Given the description of an element on the screen output the (x, y) to click on. 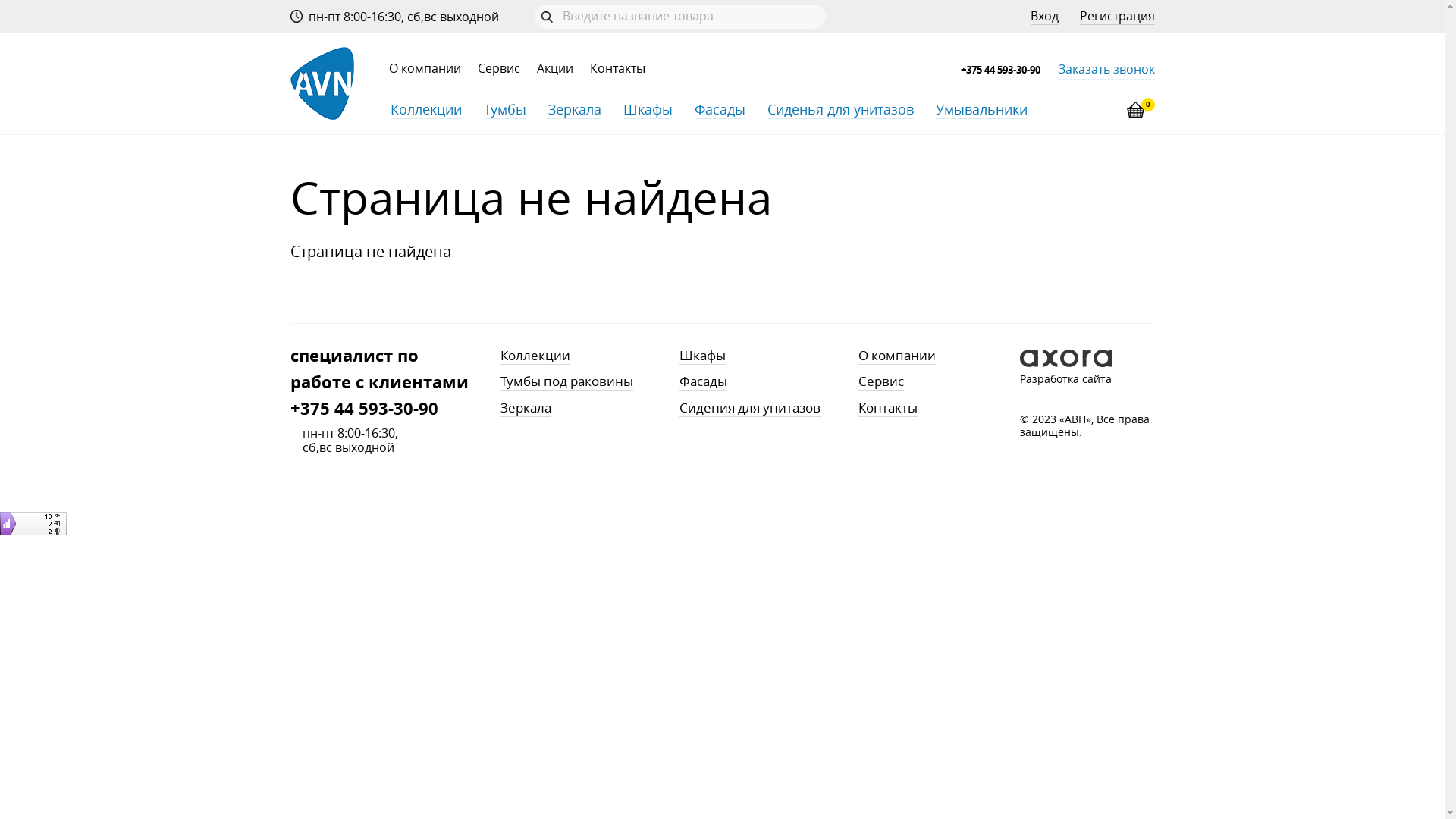
+375 44 593-30-90 Element type: text (1000, 69)
0 Element type: text (1133, 114)
